Given the description of an element on the screen output the (x, y) to click on. 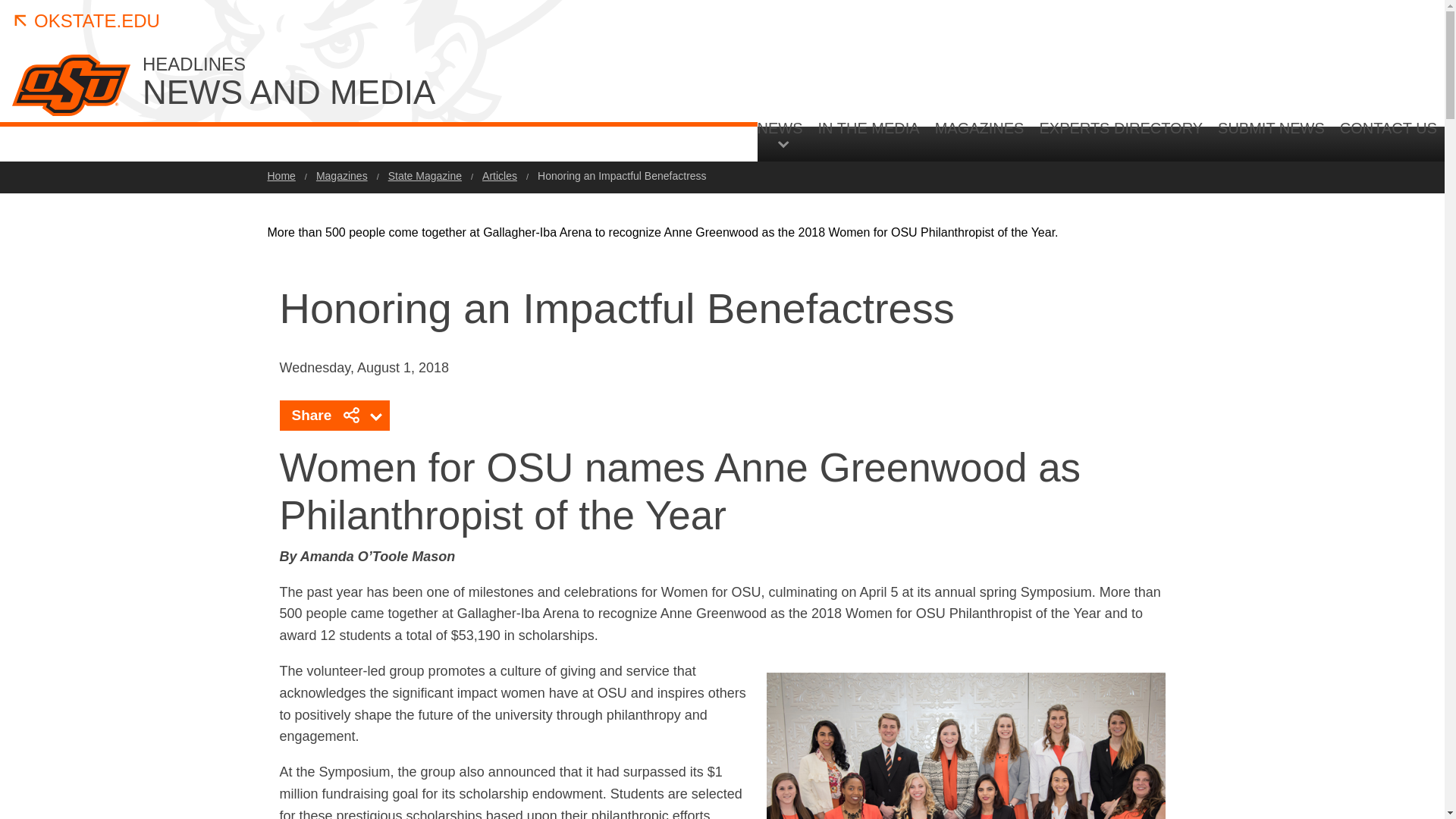
Magazines (341, 175)
SUBMIT NEWS (1270, 139)
Articles (498, 175)
MAGAZINES (979, 139)
Share (333, 415)
OKSTATE.EDU (85, 21)
State Magazine (424, 175)
Search (1344, 267)
NEWS (783, 133)
IN THE MEDIA (868, 139)
